Given the description of an element on the screen output the (x, y) to click on. 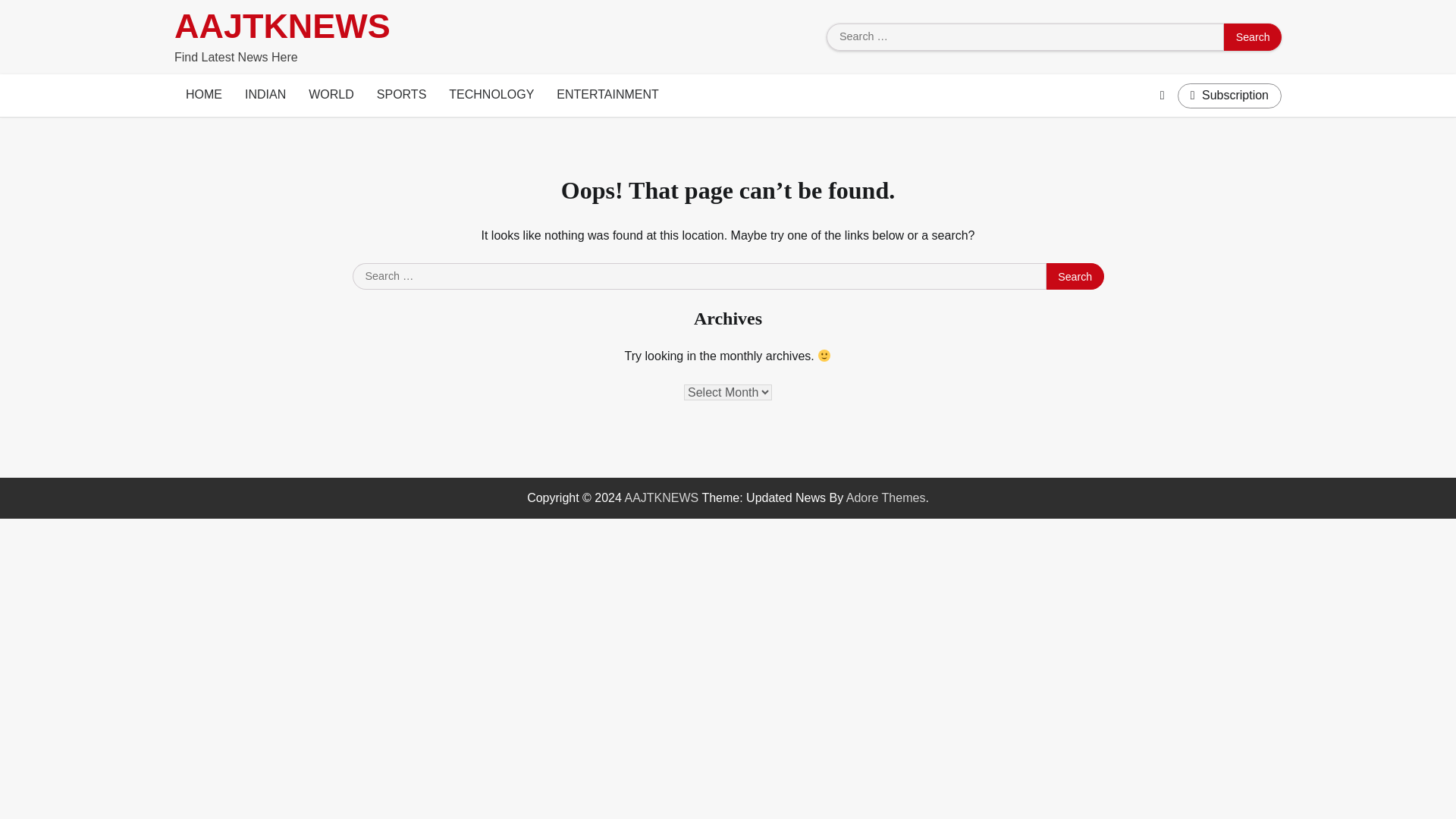
WORLD (331, 95)
Search (1074, 276)
ENTERTAINMENT (606, 95)
View Random Post (1162, 95)
AAJTKNEWS (282, 25)
HOME (203, 95)
Search (1252, 36)
Search (1252, 36)
Search (1074, 276)
SPORTS (401, 95)
